Given the description of an element on the screen output the (x, y) to click on. 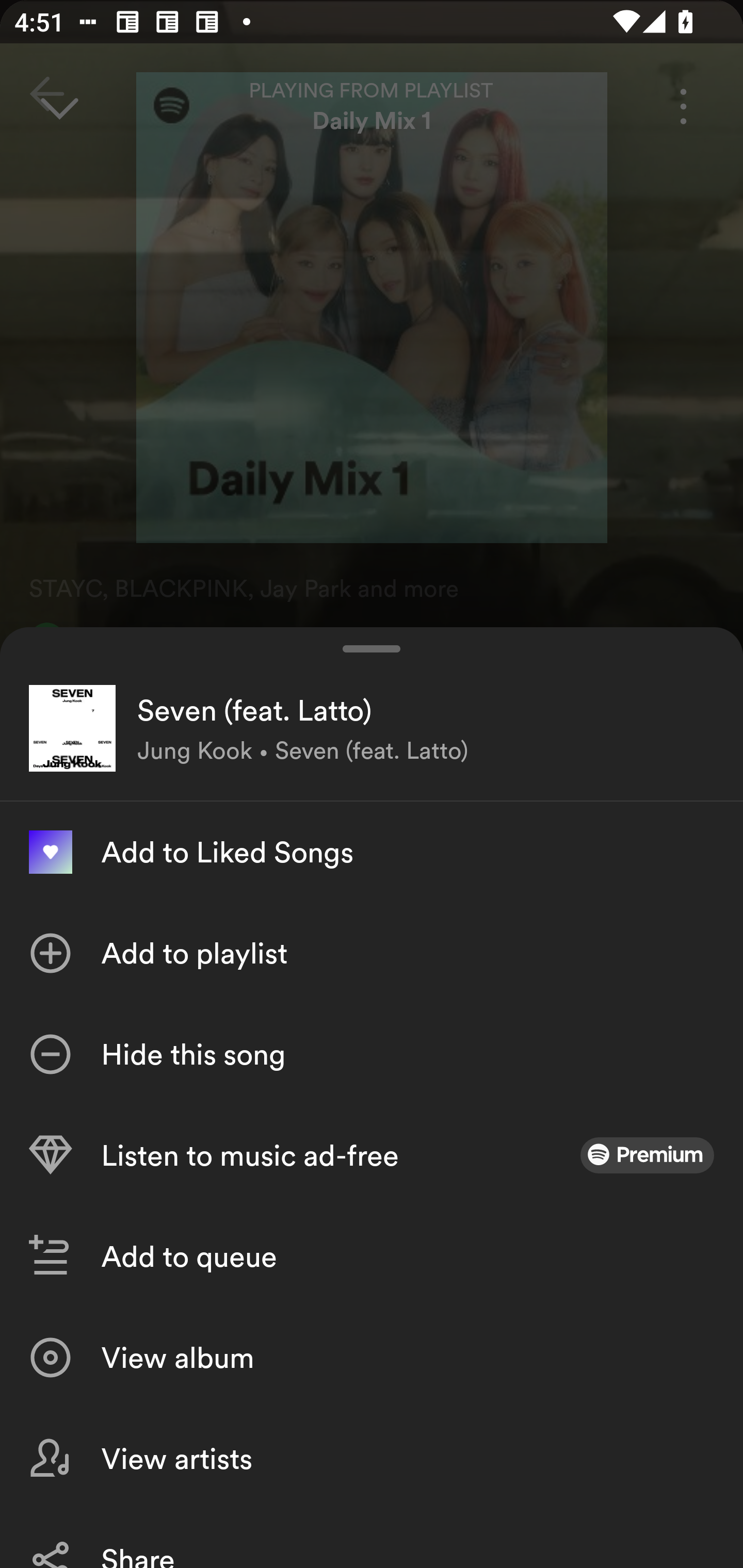
Add to Liked Songs (371, 852)
Add to playlist (371, 953)
Hide this song (371, 1054)
Listen to music ad-free (371, 1155)
Add to queue (371, 1256)
View album (371, 1357)
View artists (371, 1458)
Share (371, 1538)
